Given the description of an element on the screen output the (x, y) to click on. 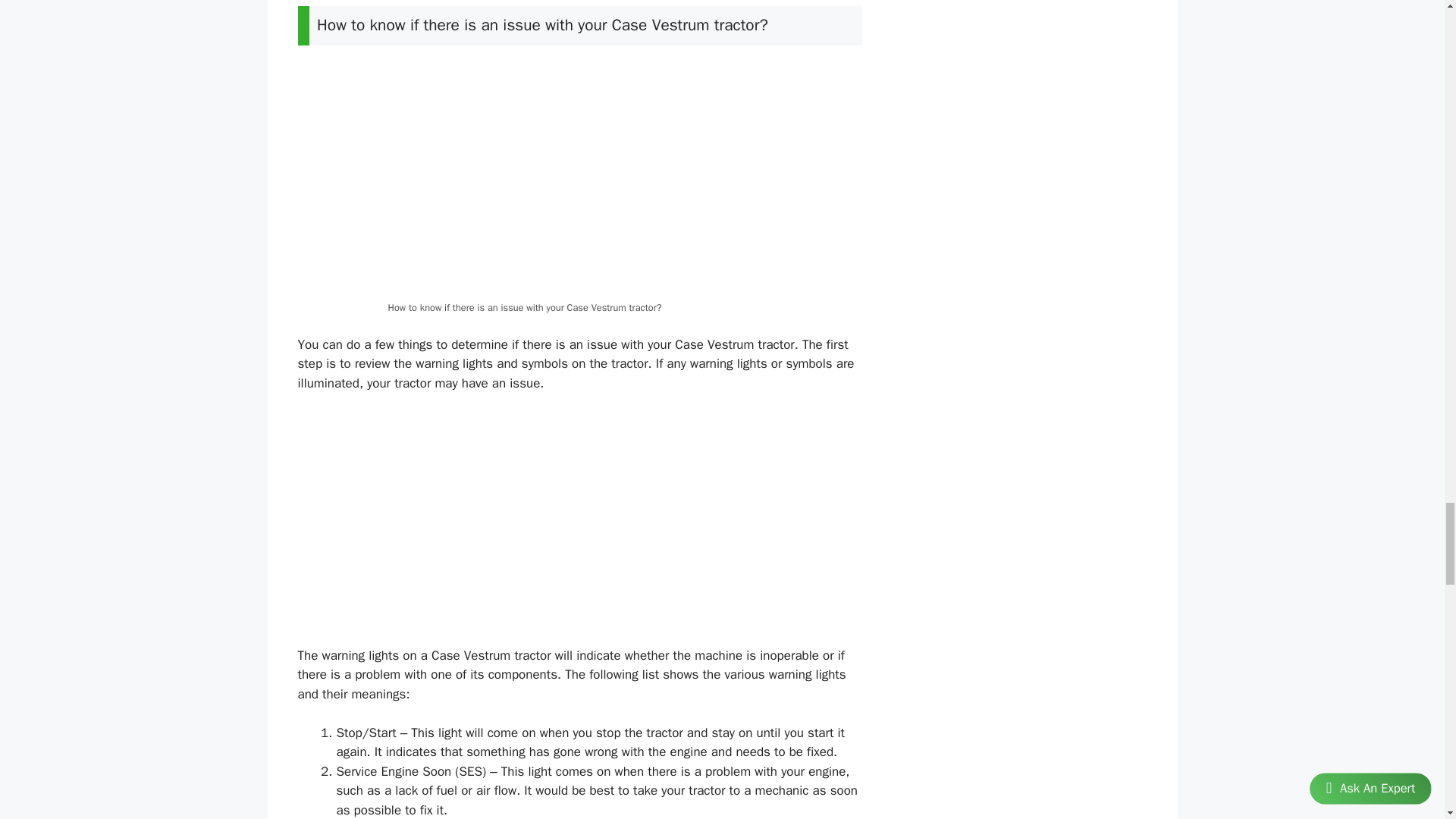
Case Vestrum Warning Lights And Symbols 6 (579, 178)
